Given the description of an element on the screen output the (x, y) to click on. 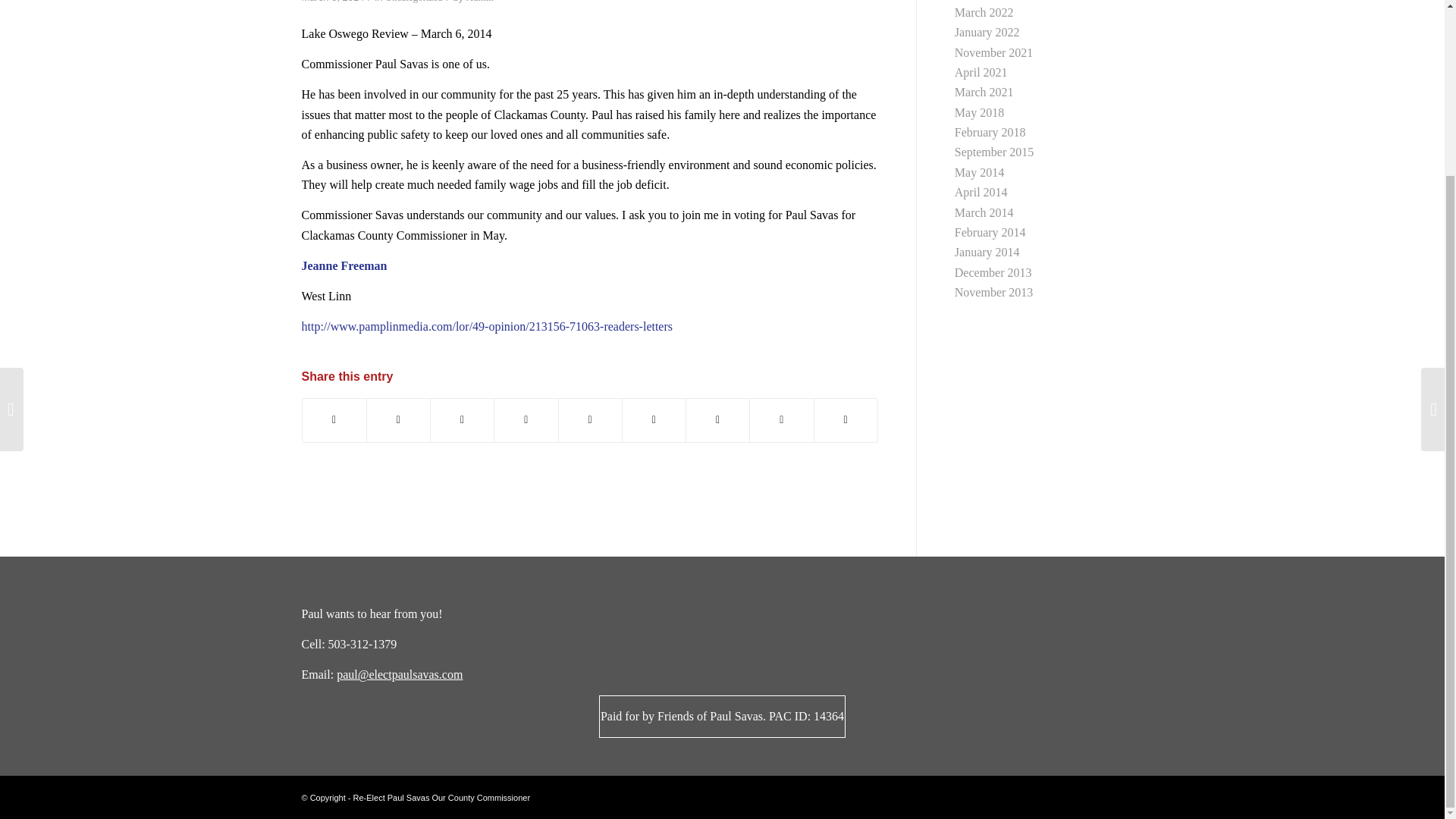
September 2015 (994, 151)
January 2022 (987, 31)
January 2014 (987, 251)
May 2014 (979, 172)
March 2022 (984, 11)
Uncategorized (413, 1)
March 2014 (984, 212)
April 2021 (981, 72)
Admin (479, 1)
November 2013 (994, 291)
